Given the description of an element on the screen output the (x, y) to click on. 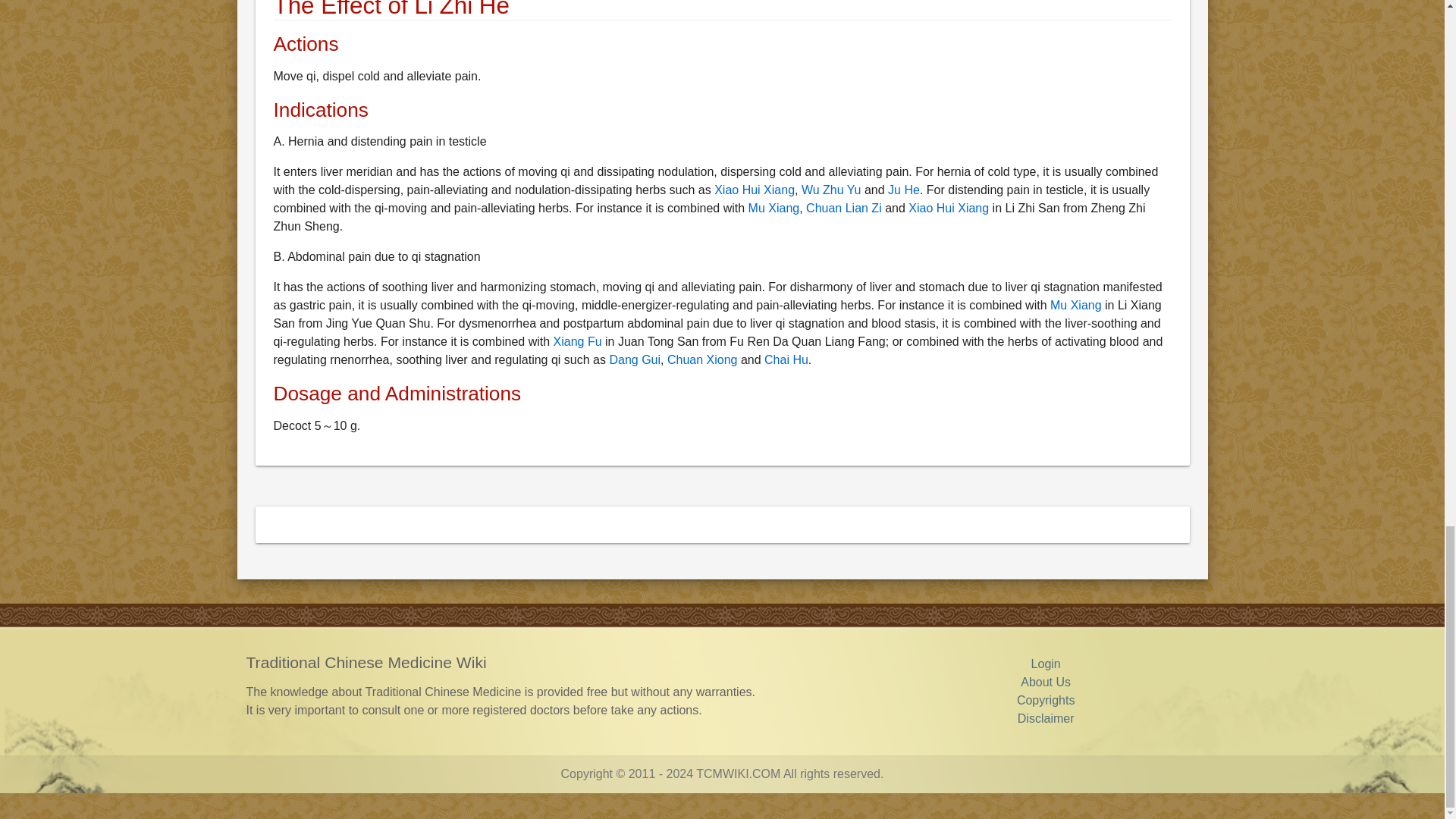
Chuan Xiong (702, 359)
Copyrights (1045, 699)
Login (1045, 663)
Xiang Fu (577, 341)
Mu Xiang (1075, 305)
Ju He (904, 189)
About Us (1045, 681)
Wu Zhu Yu (831, 189)
Xiao Hui Xiang (754, 189)
Chai Hu (786, 359)
Mu Xiang (773, 207)
Chuan Lian Zi (844, 207)
Xiao Hui Xiang (948, 207)
Dang Gui (634, 359)
Disclaimer (1045, 717)
